Given the description of an element on the screen output the (x, y) to click on. 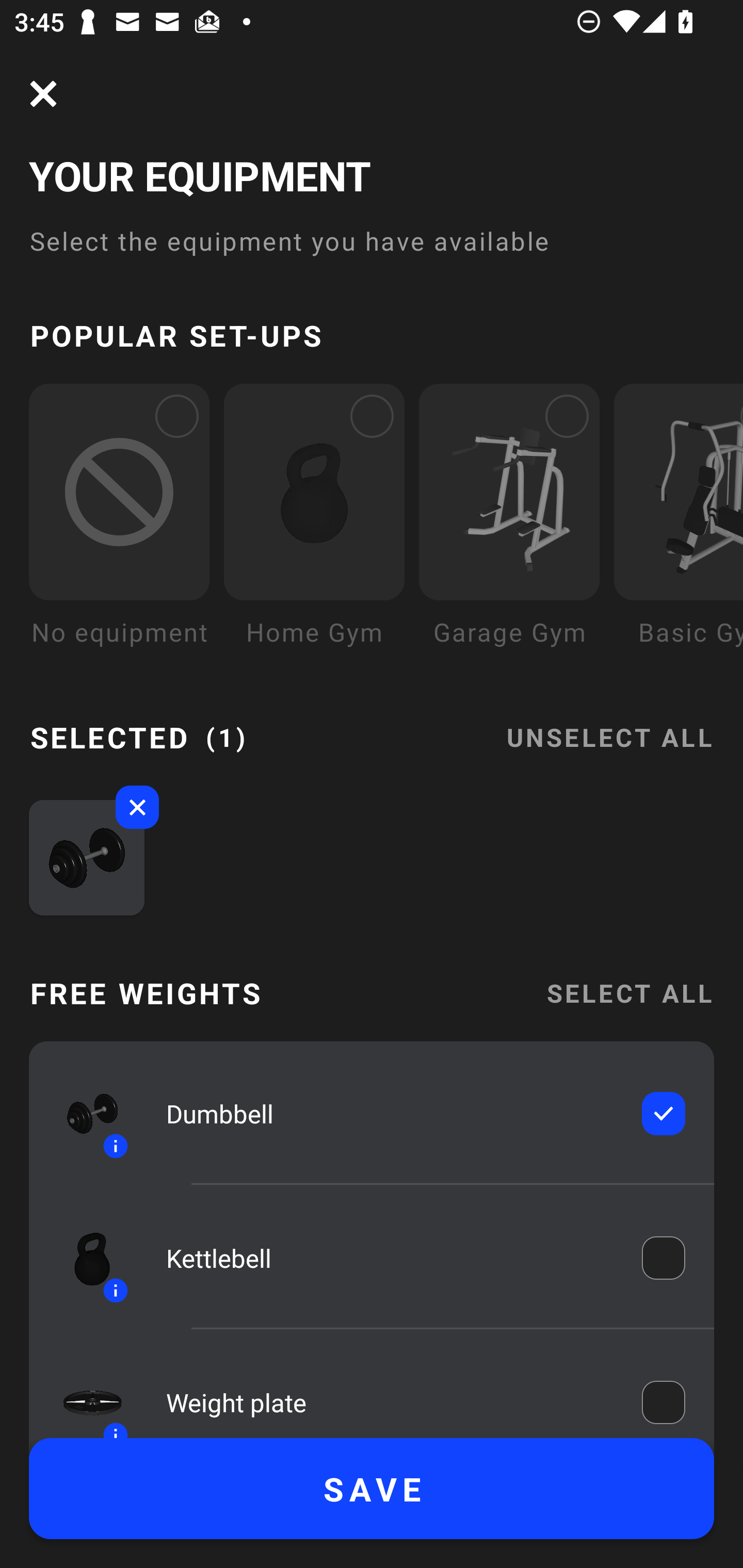
Navigation icon (43, 93)
UNSELECT ALL (609, 725)
SELECT ALL (629, 993)
Equipment icon Information icon (82, 1113)
Dumbbell (389, 1113)
Equipment icon Information icon (82, 1258)
Kettlebell (389, 1258)
Equipment icon Information icon (82, 1392)
Weight plate (389, 1398)
SAVE (371, 1488)
